Given the description of an element on the screen output the (x, y) to click on. 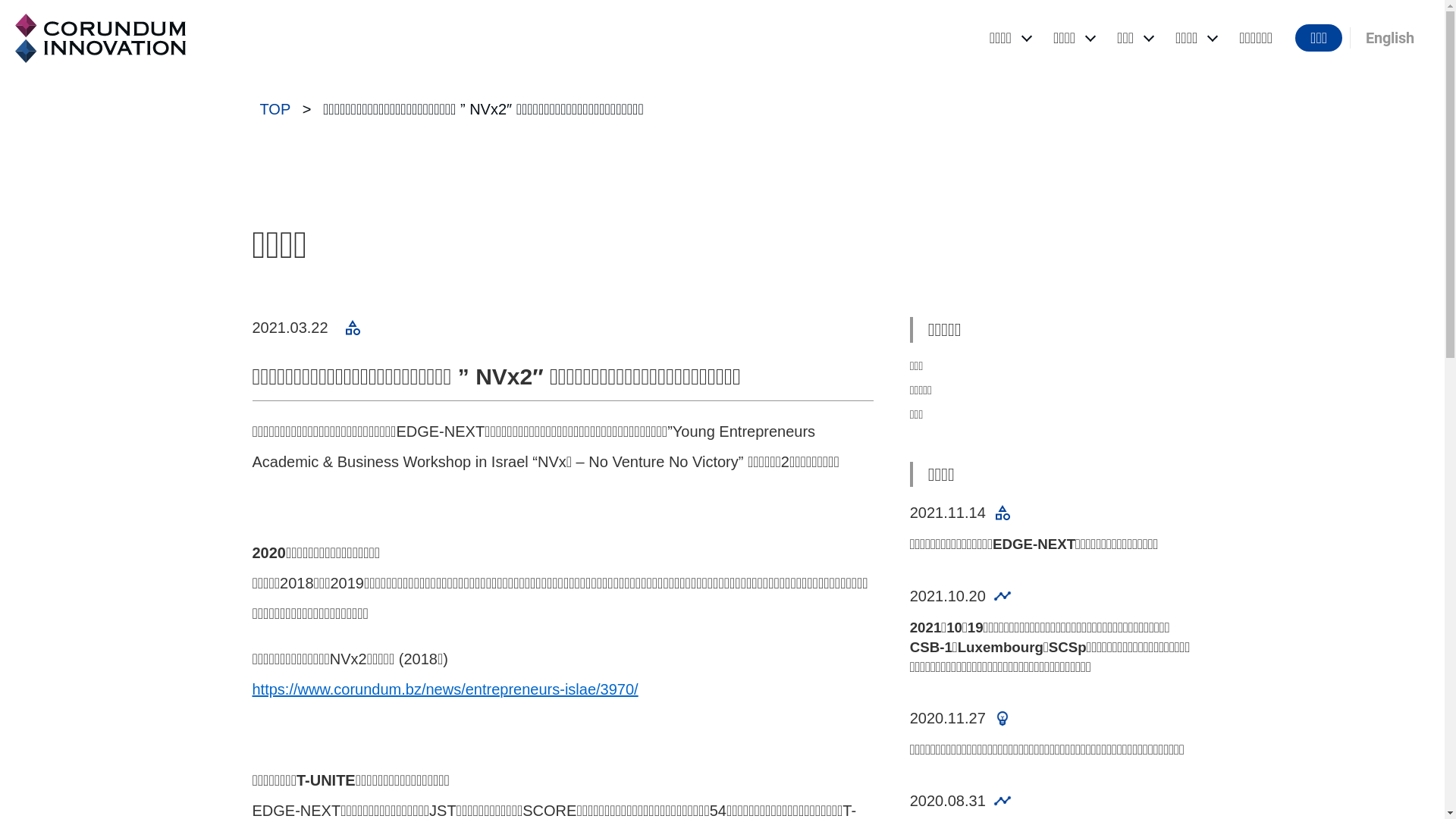
TOP Element type: text (274, 108)
English Element type: text (1389, 37)
https://www.corundum.bz/news/entrepreneurs-islae/3970/ Element type: text (444, 688)
